Given the description of an element on the screen output the (x, y) to click on. 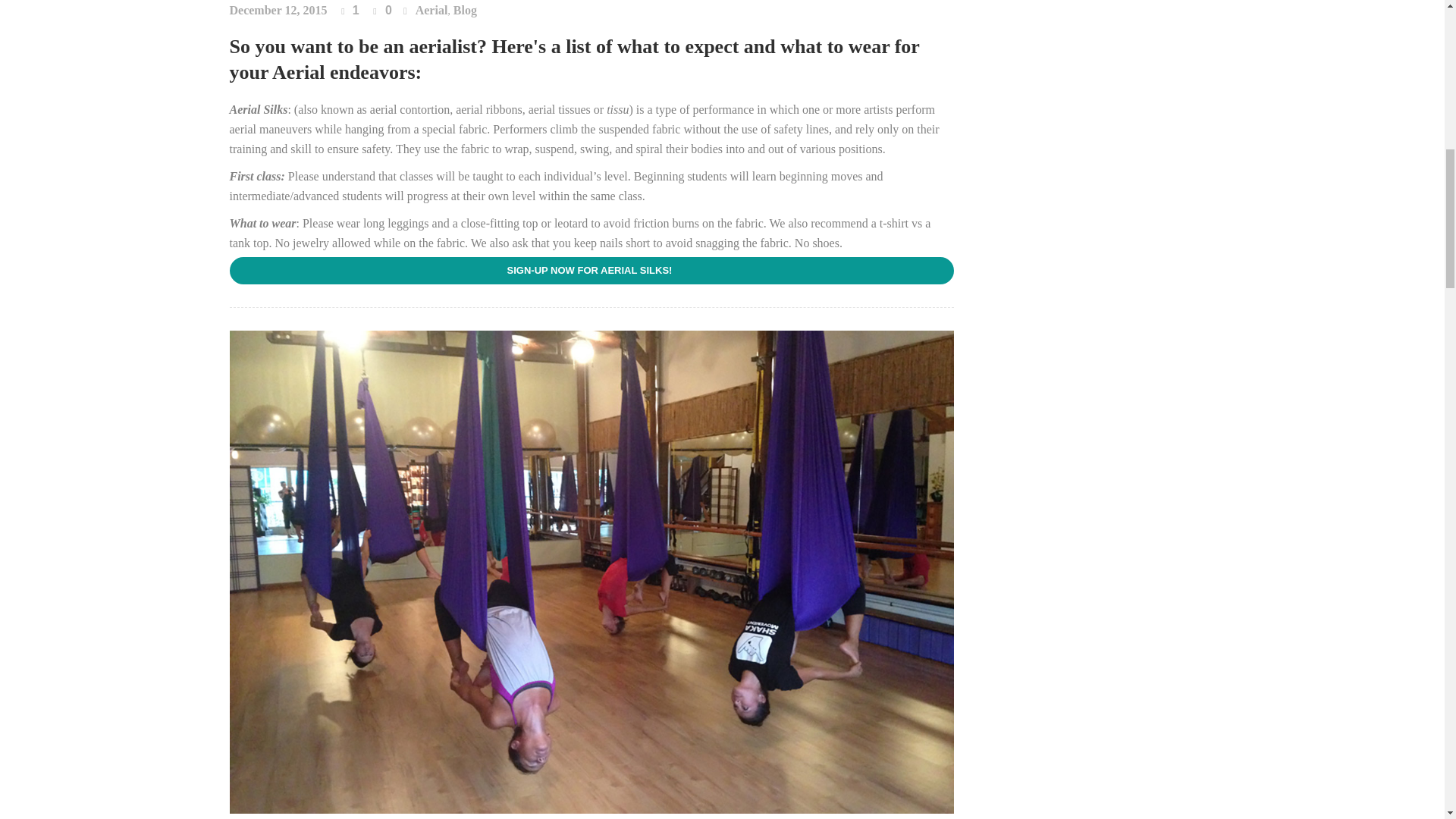
Like this (349, 10)
